Given the description of an element on the screen output the (x, y) to click on. 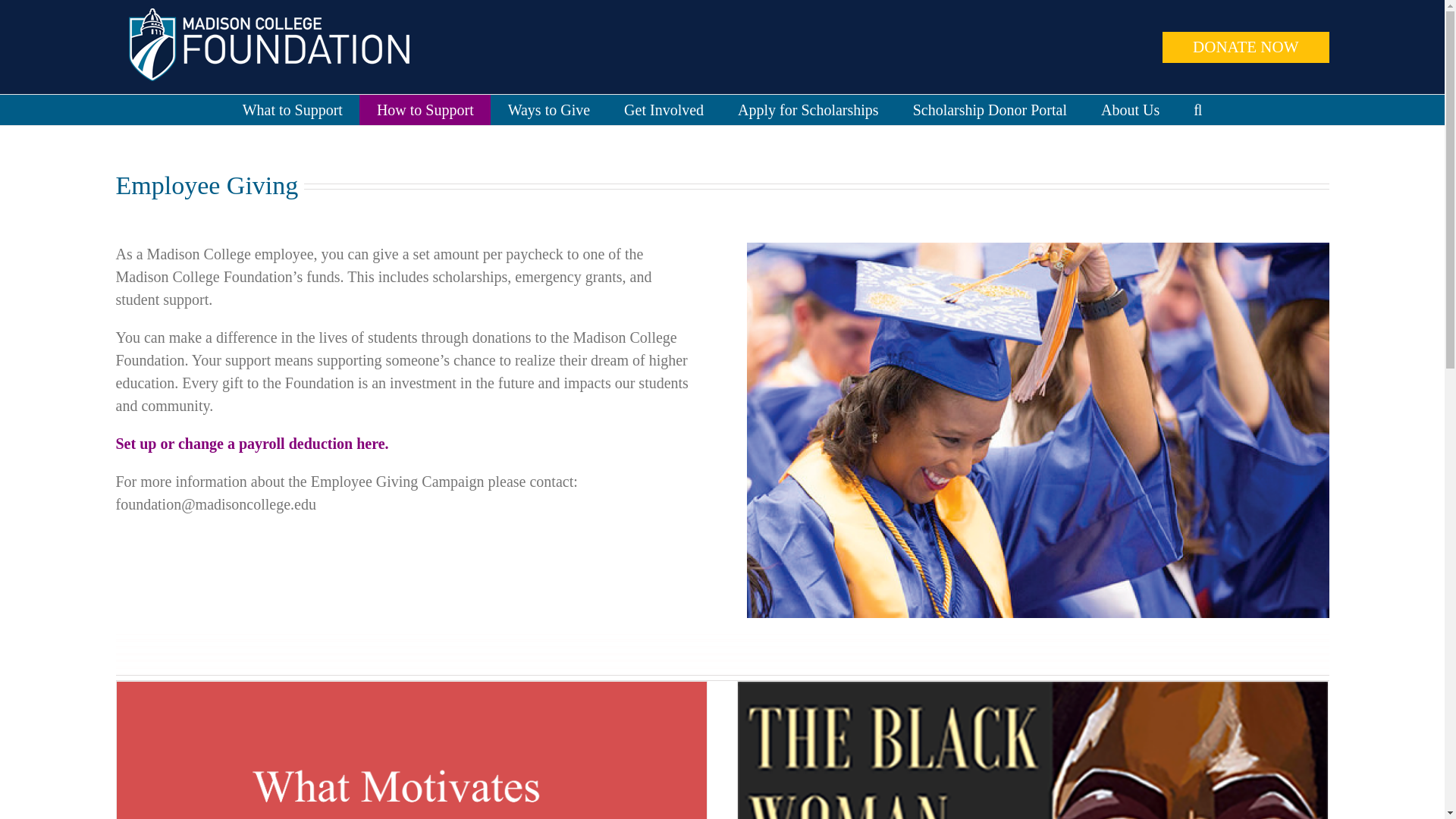
Get Involved (663, 110)
Apply for Scholarships (808, 110)
What to Support (292, 110)
Ways to Give (548, 110)
DONATE NOW (1244, 47)
Search (1198, 110)
How to Support (424, 110)
About Us (1129, 110)
Scholarship Donor Portal (989, 110)
